Given the description of an element on the screen output the (x, y) to click on. 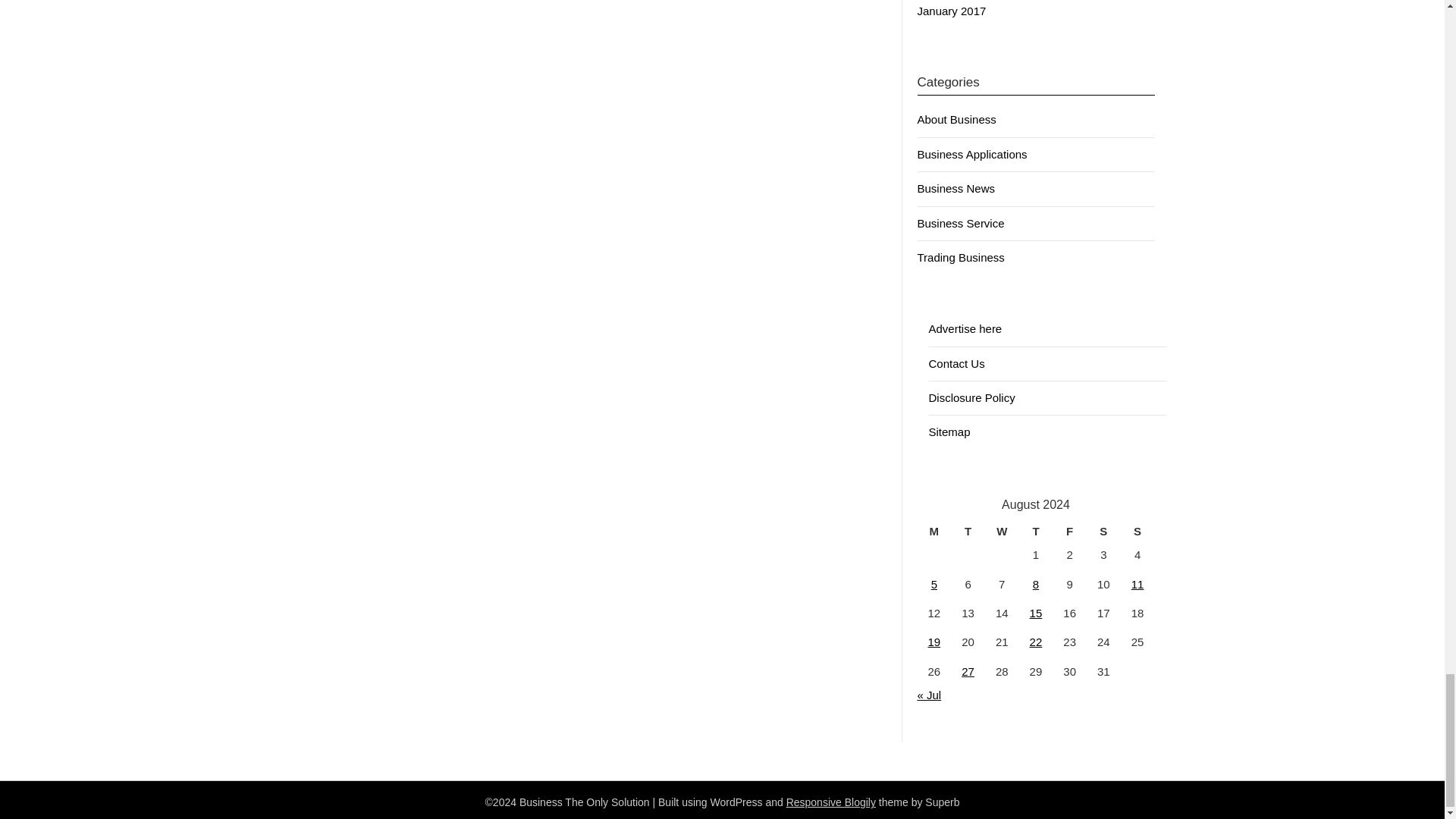
Friday (1069, 531)
Wednesday (1002, 531)
Saturday (1103, 531)
Tuesday (967, 531)
Monday (934, 531)
Sunday (1137, 531)
Thursday (1035, 531)
